Given the description of an element on the screen output the (x, y) to click on. 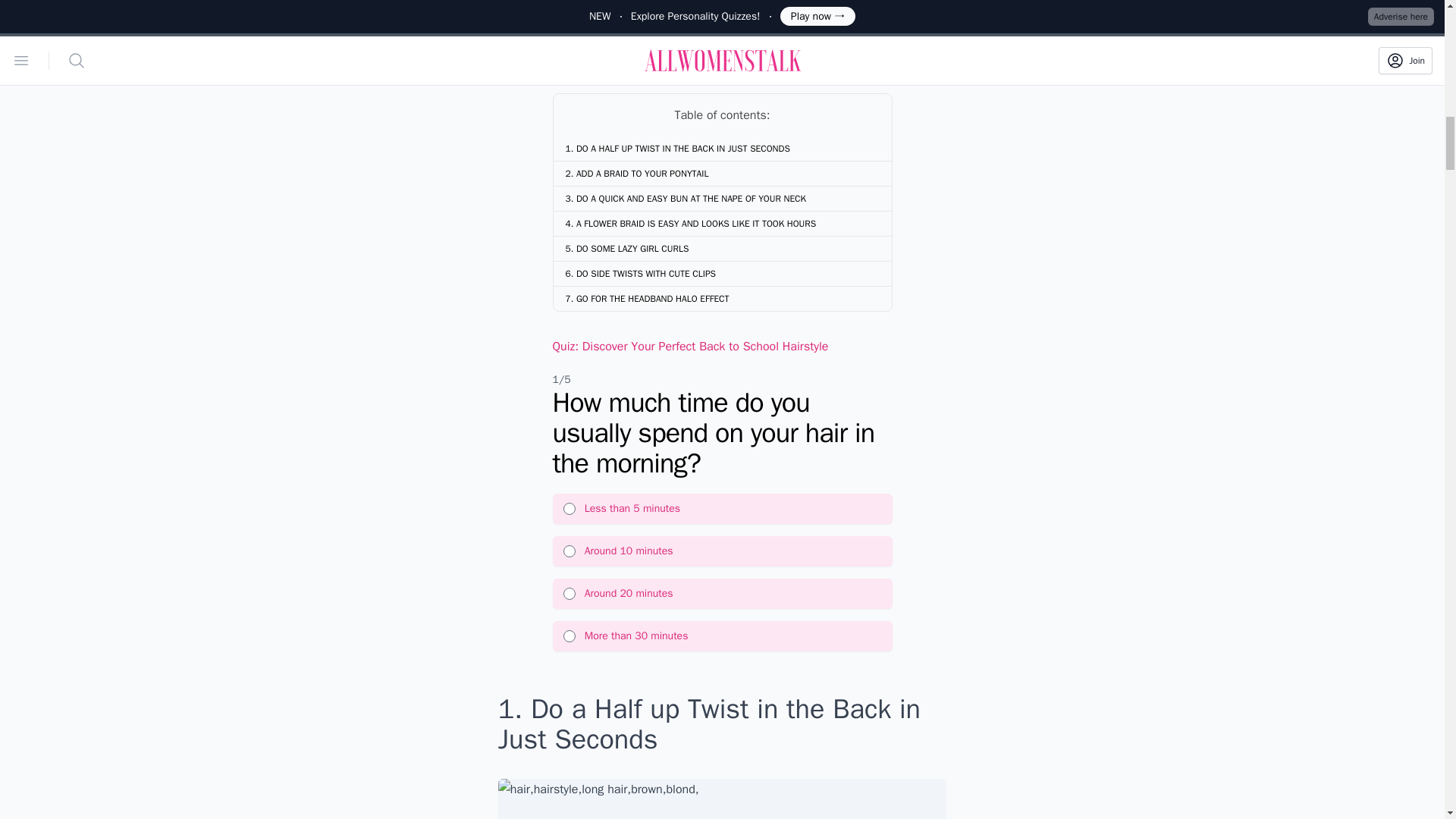
D (568, 635)
B (568, 551)
A (568, 508)
C (568, 593)
